Given the description of an element on the screen output the (x, y) to click on. 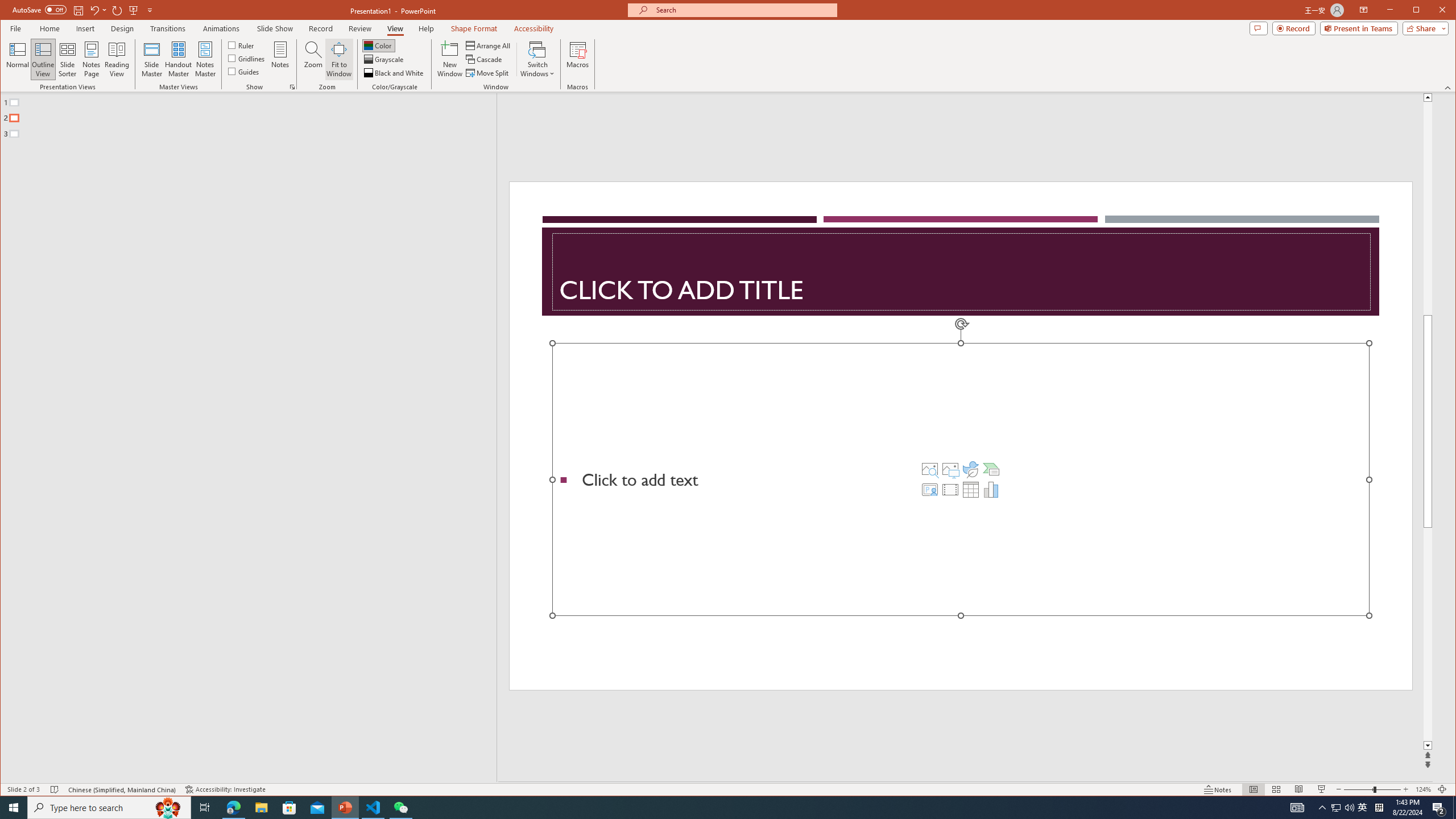
Ruler (241, 44)
Cascade (484, 59)
Move Split (488, 72)
Gridlines (246, 57)
Slide Master (151, 59)
Grid Settings... (292, 86)
